Given the description of an element on the screen output the (x, y) to click on. 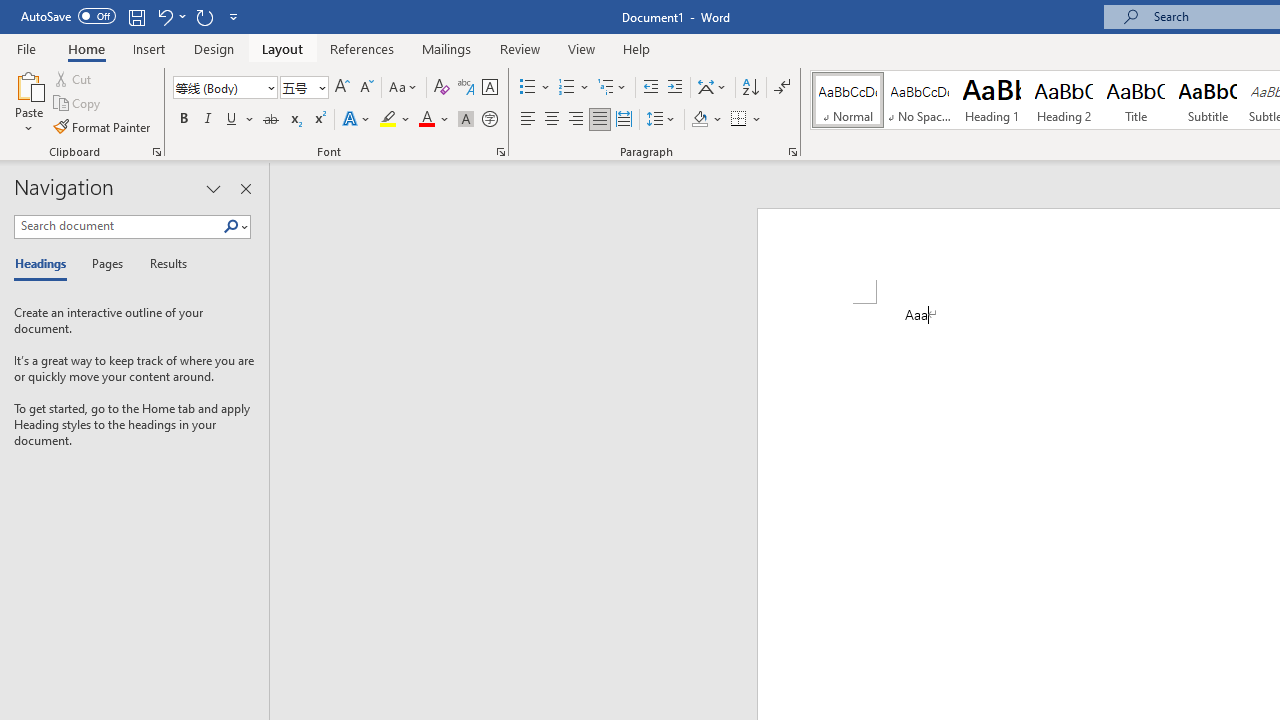
Sort... (750, 87)
Justify (599, 119)
Shading (706, 119)
Superscript (319, 119)
Font... (500, 151)
Increase Indent (675, 87)
Font Color (434, 119)
Text Highlight Color Yellow (388, 119)
Cut (73, 78)
